Given the description of an element on the screen output the (x, y) to click on. 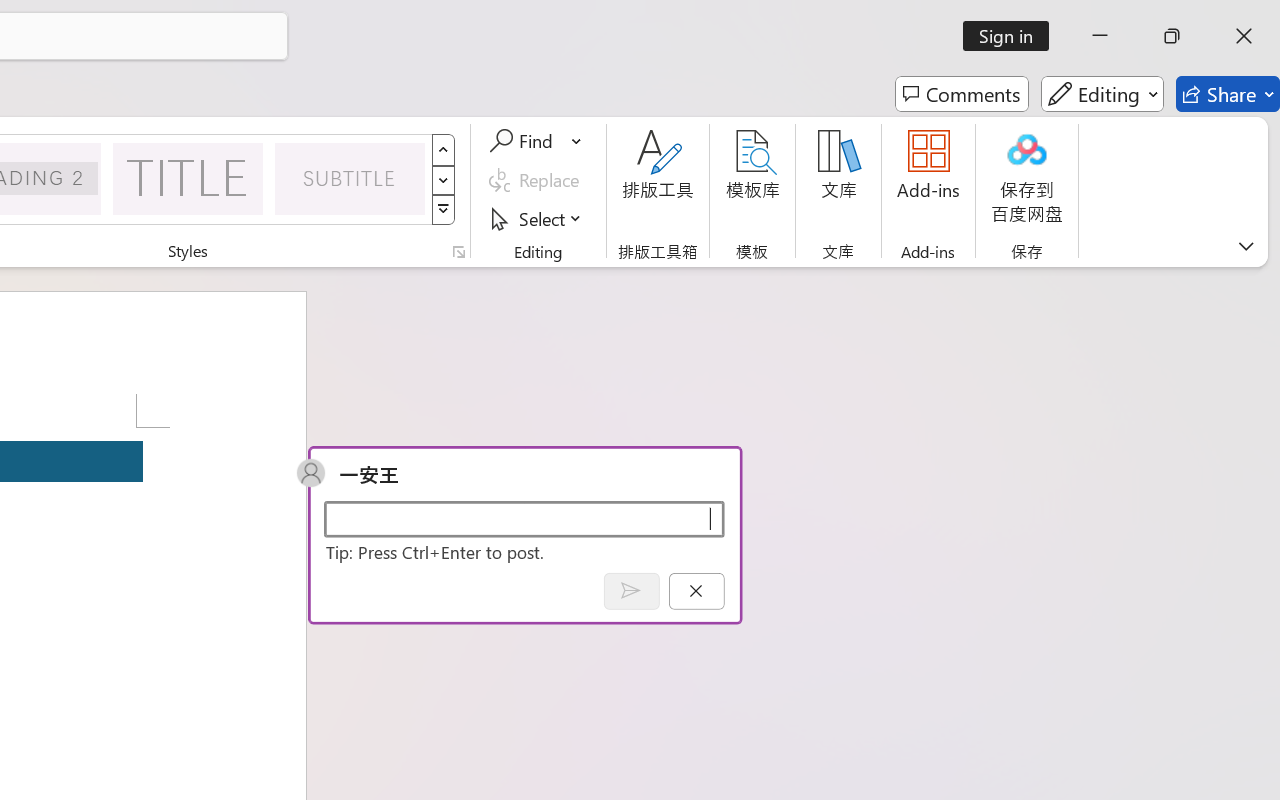
Sign in (1012, 35)
Post comment (Ctrl + Enter) (630, 590)
Title (187, 178)
